Given the description of an element on the screen output the (x, y) to click on. 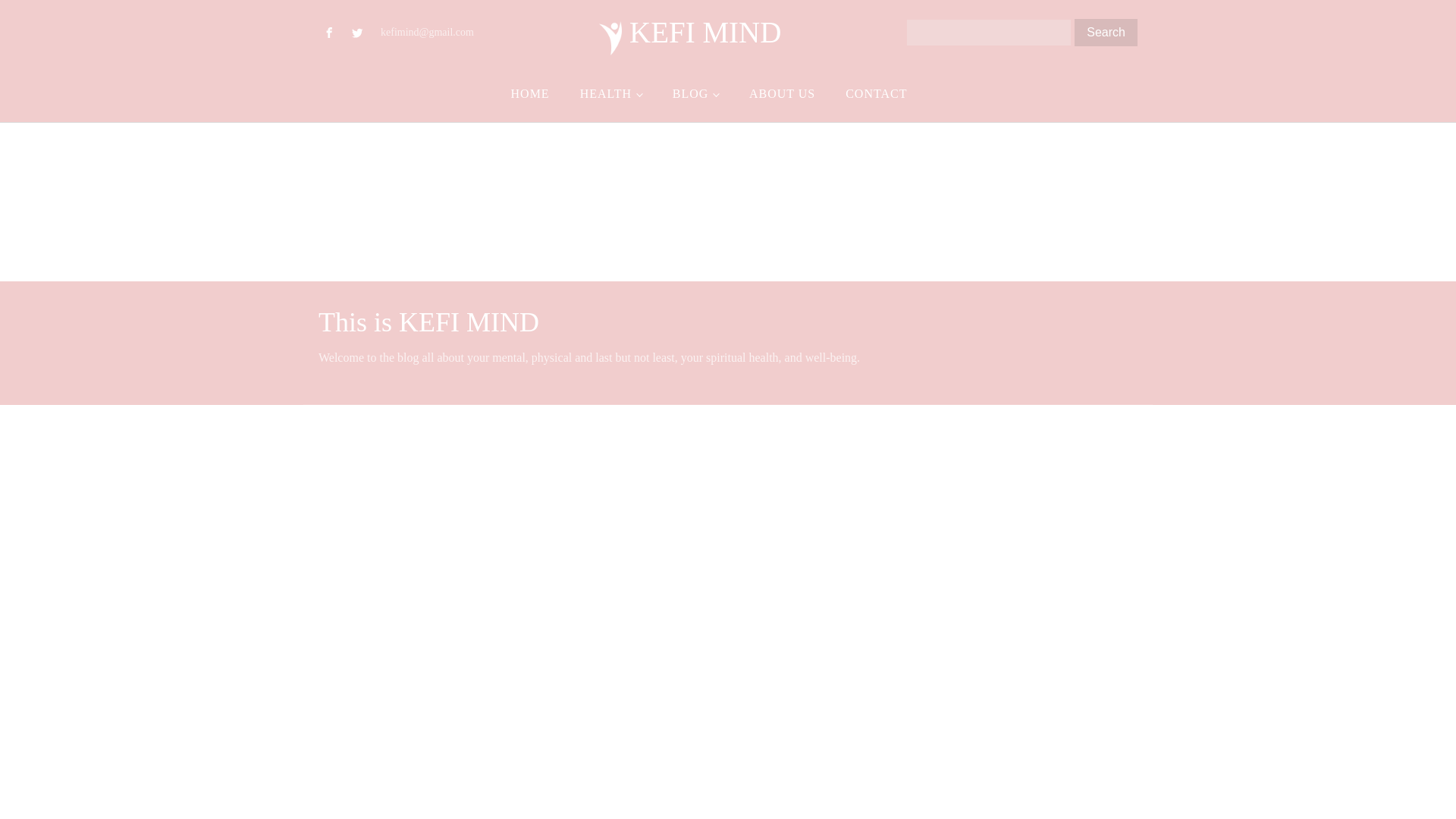
Search (1105, 31)
HEALTH (611, 94)
BLOG (695, 94)
ABOUT US (781, 94)
Search (1105, 31)
HOME (530, 94)
KEFI MIND (689, 32)
CONTACT (875, 94)
